Given the description of an element on the screen output the (x, y) to click on. 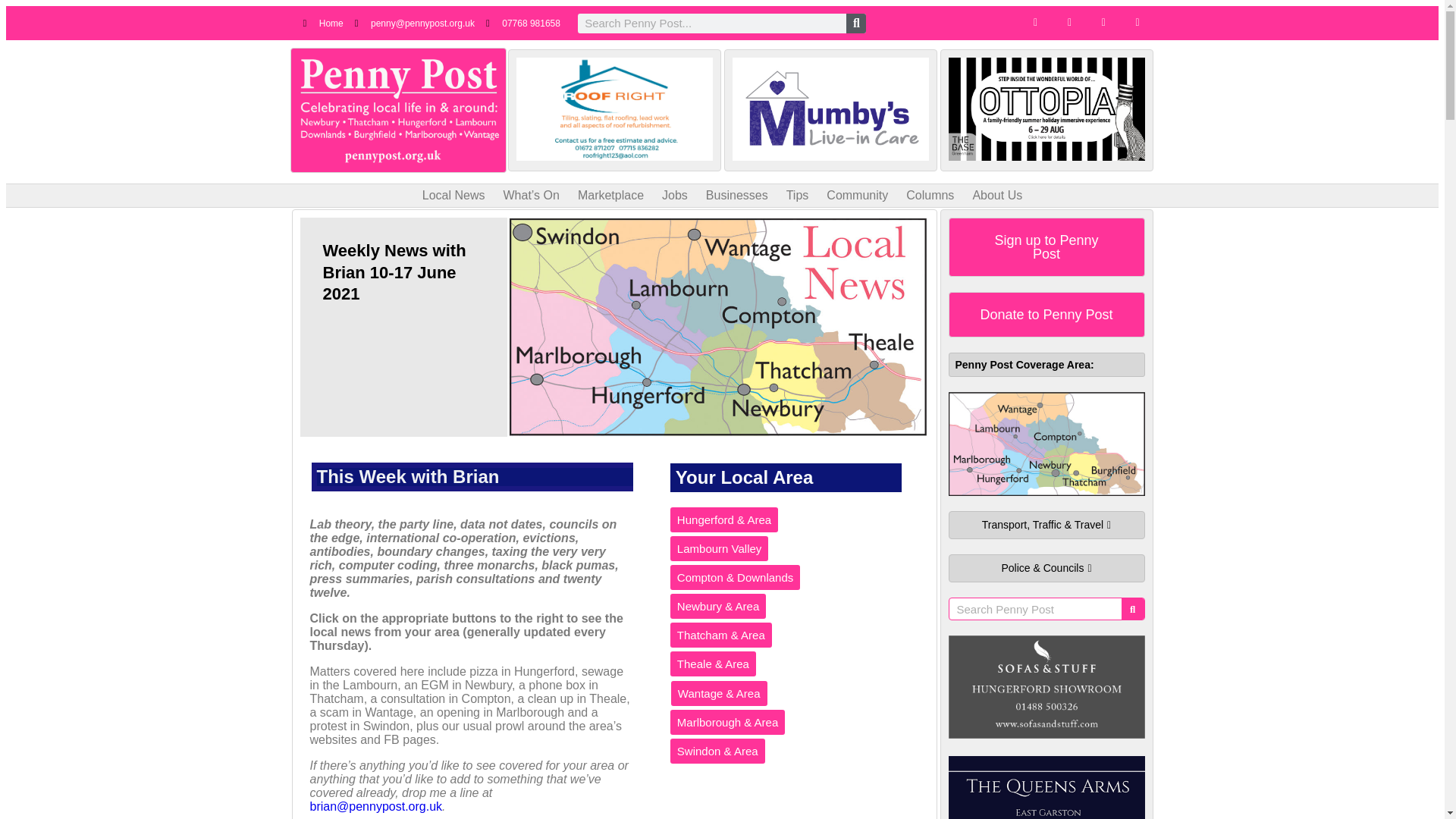
Local News (454, 195)
Home (322, 23)
